Given the description of an element on the screen output the (x, y) to click on. 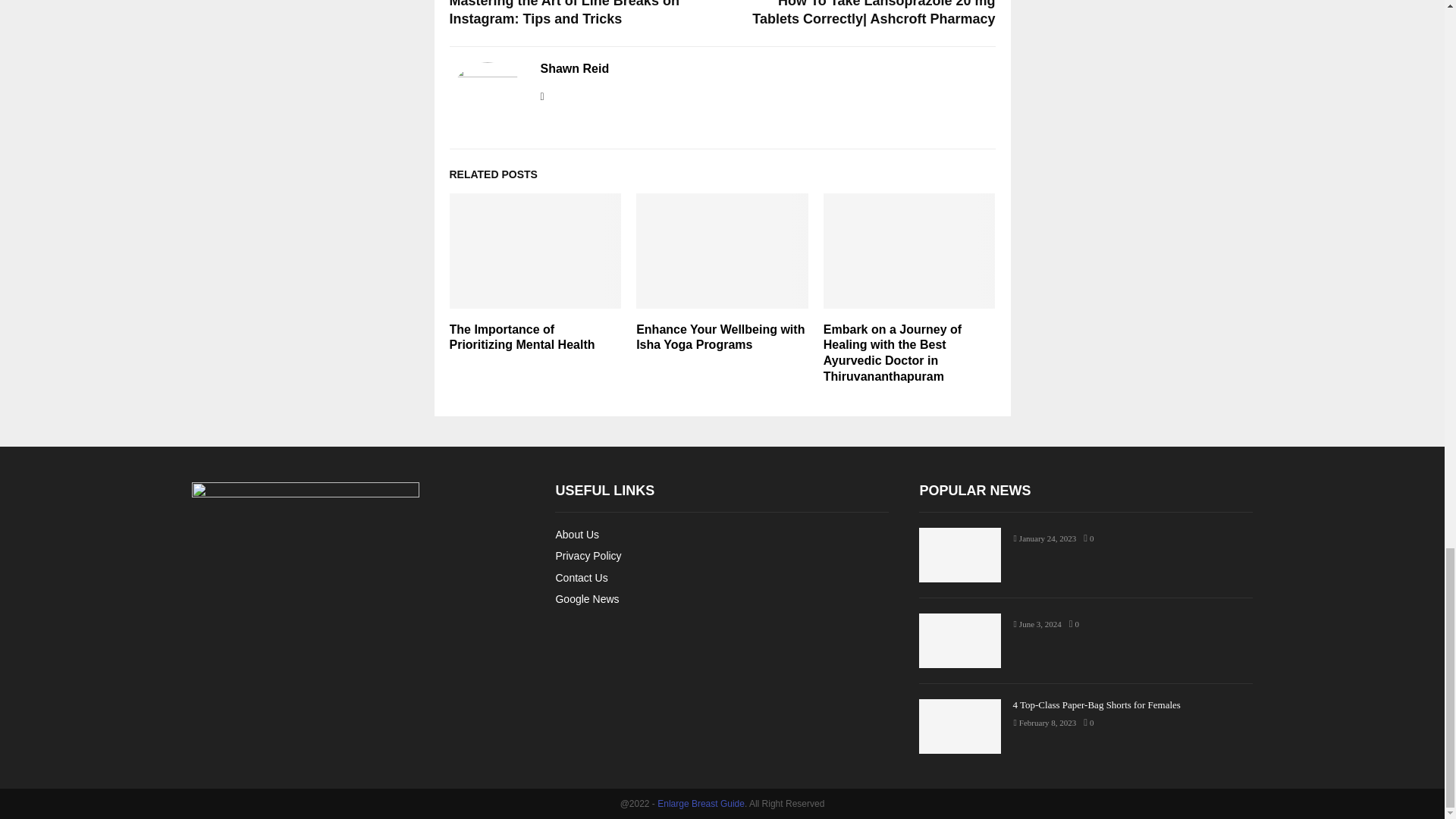
Posts by Shawn Reid (574, 68)
Enhance Your Wellbeing with Isha Yoga Programs (720, 337)
Shawn Reid (574, 68)
The Importance of Prioritizing Mental Health (521, 337)
